Given the description of an element on the screen output the (x, y) to click on. 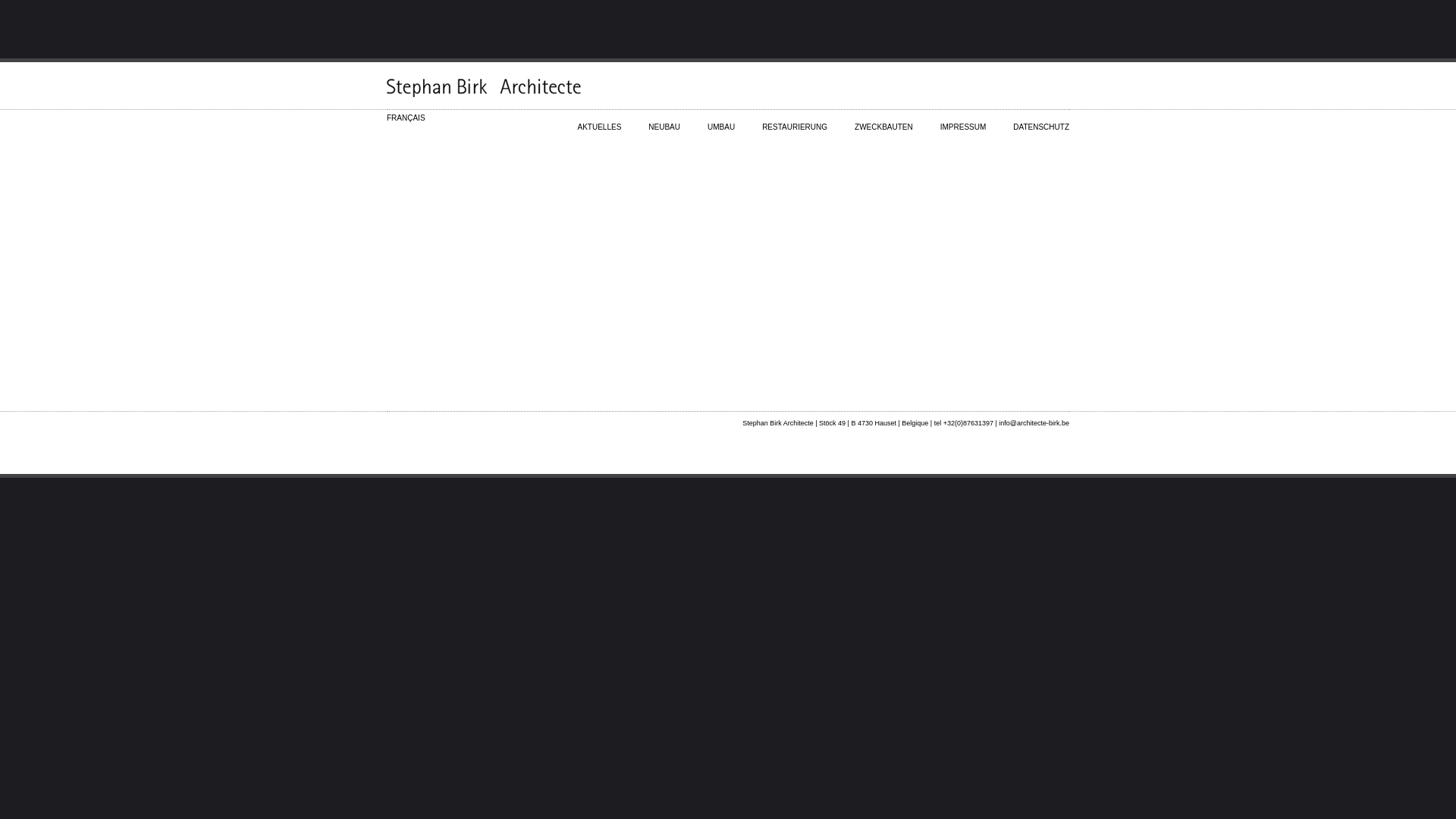
IMPRESSUM Element type: text (963, 120)
ZWECKBAUTEN Element type: text (883, 120)
AKTUELLES Element type: text (599, 120)
NEUBAU Element type: text (664, 120)
UMBAU Element type: text (720, 120)
RESTAURIERUNG Element type: text (794, 120)
DATENSCHUTZ Element type: text (1041, 120)
